Given the description of an element on the screen output the (x, y) to click on. 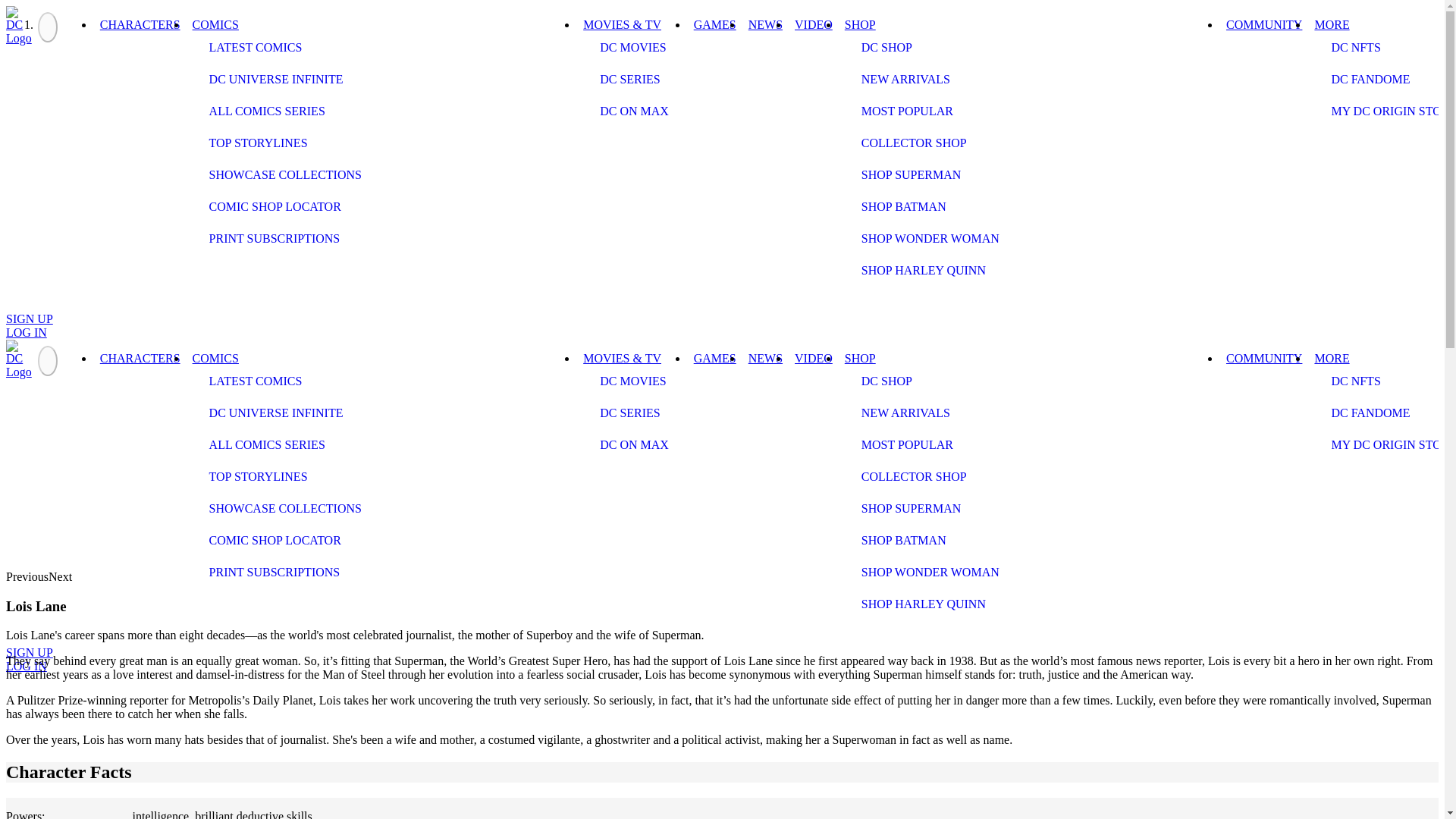
CHARACTERS (140, 24)
COMICS (215, 358)
SIGN UP (28, 318)
COMICS (215, 24)
MORE (1331, 24)
CHARACTERS (140, 358)
SHOP (860, 24)
GAMES (714, 24)
COMMUNITY (1263, 24)
VIDEO (813, 24)
Open search (25, 633)
Open search (25, 299)
LOG IN (25, 332)
NEWS (765, 24)
